Given the description of an element on the screen output the (x, y) to click on. 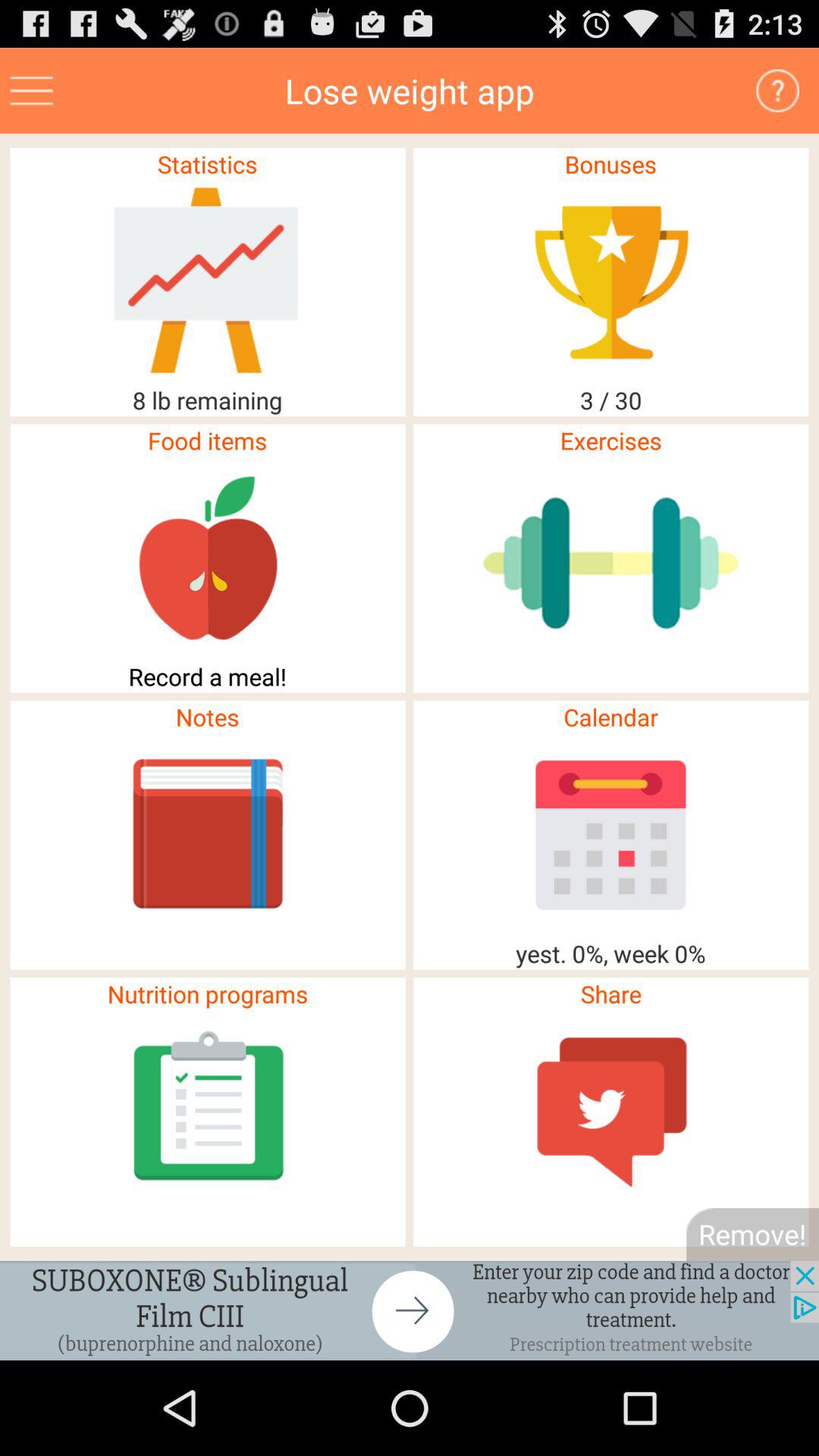
menu page (31, 90)
